Given the description of an element on the screen output the (x, y) to click on. 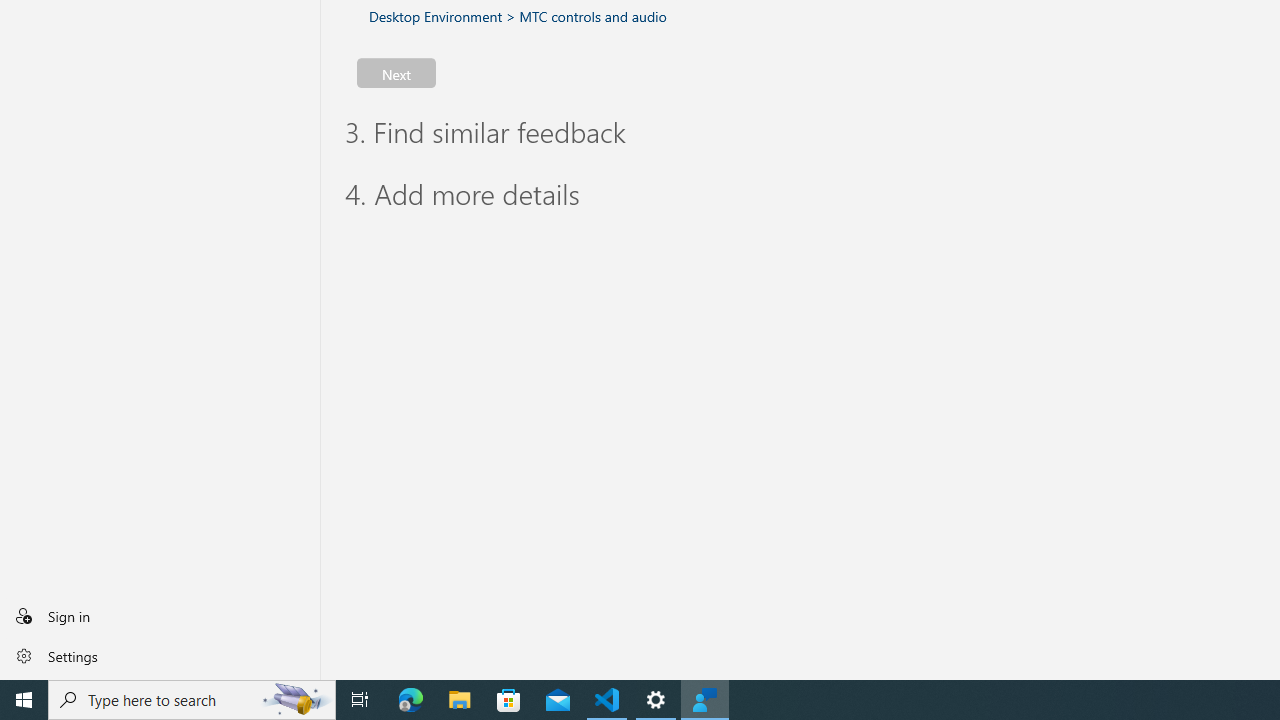
Next (396, 72)
Sign in (159, 616)
Feedback Hub - 1 running window (704, 699)
Settings (159, 655)
